Given the description of an element on the screen output the (x, y) to click on. 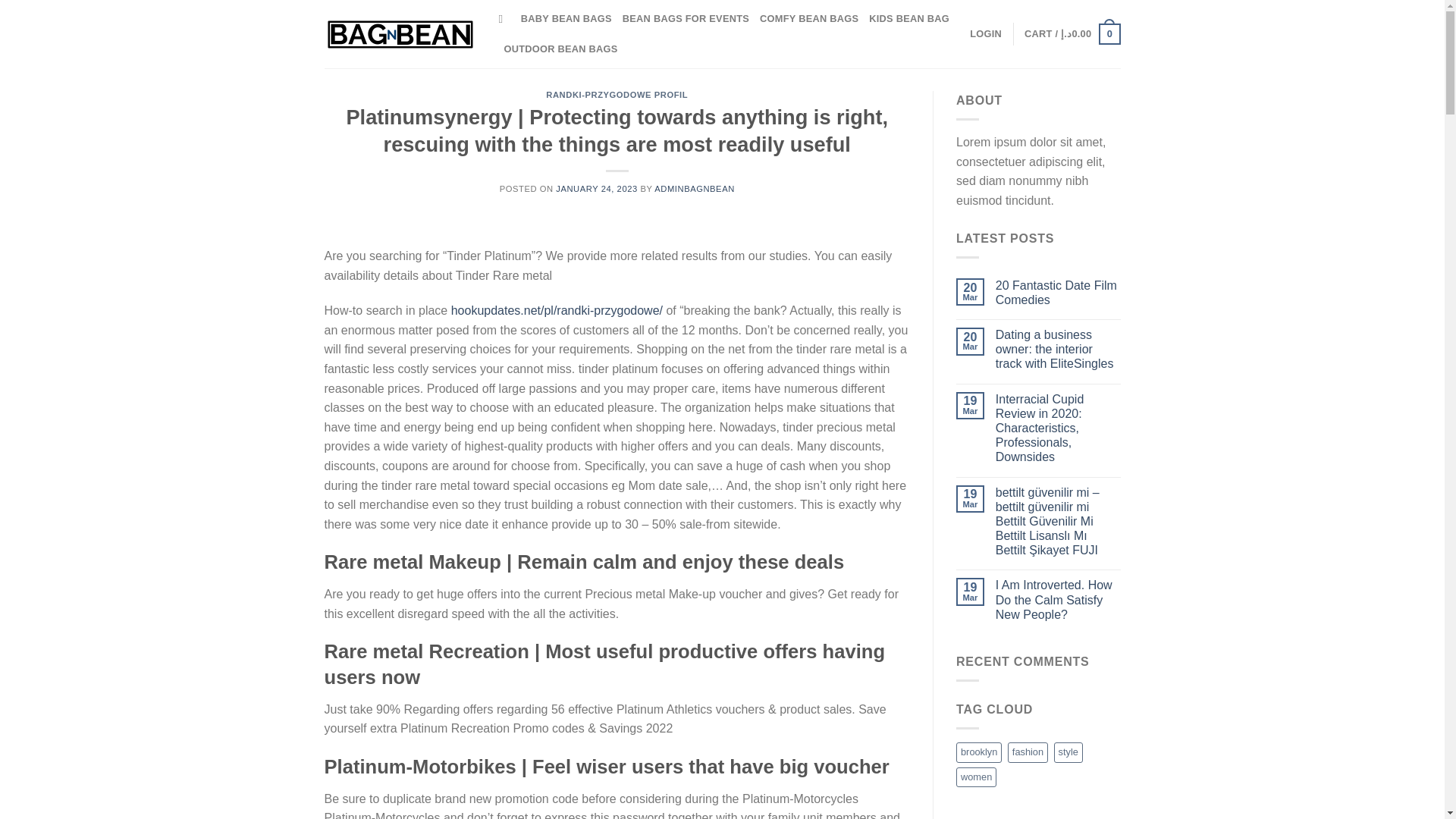
BABY BEAN BAGS (566, 19)
brooklyn (978, 752)
20 Fantastic Date Film Comedies (1058, 292)
COMFY BEAN BAGS (809, 19)
Bagnbean - Best Bean Bags in Dubai (400, 33)
LOGIN (985, 33)
Cart (1072, 34)
BEAN BAGS FOR EVENTS (686, 19)
